Given the description of an element on the screen output the (x, y) to click on. 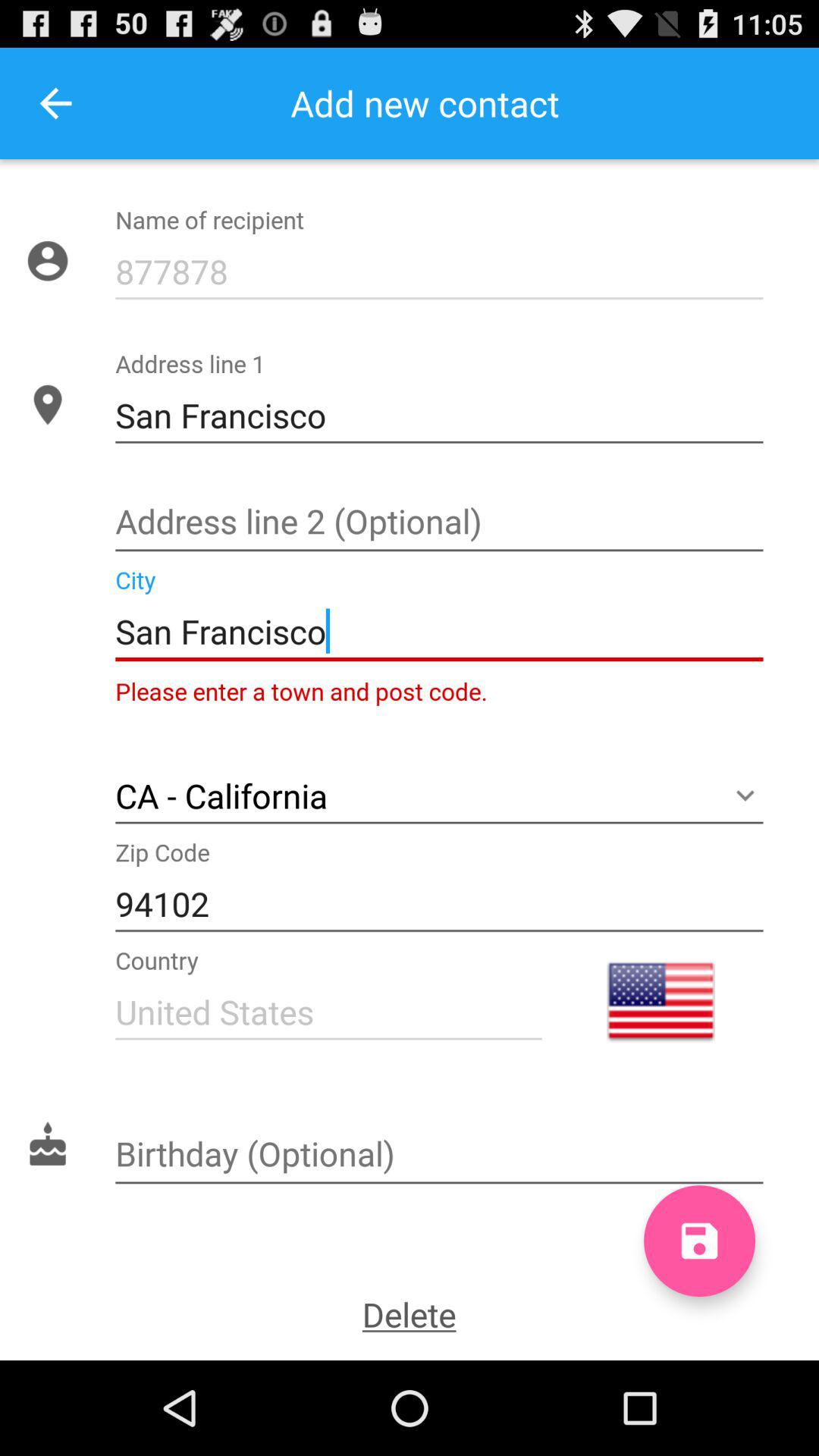
go back (55, 103)
